Given the description of an element on the screen output the (x, y) to click on. 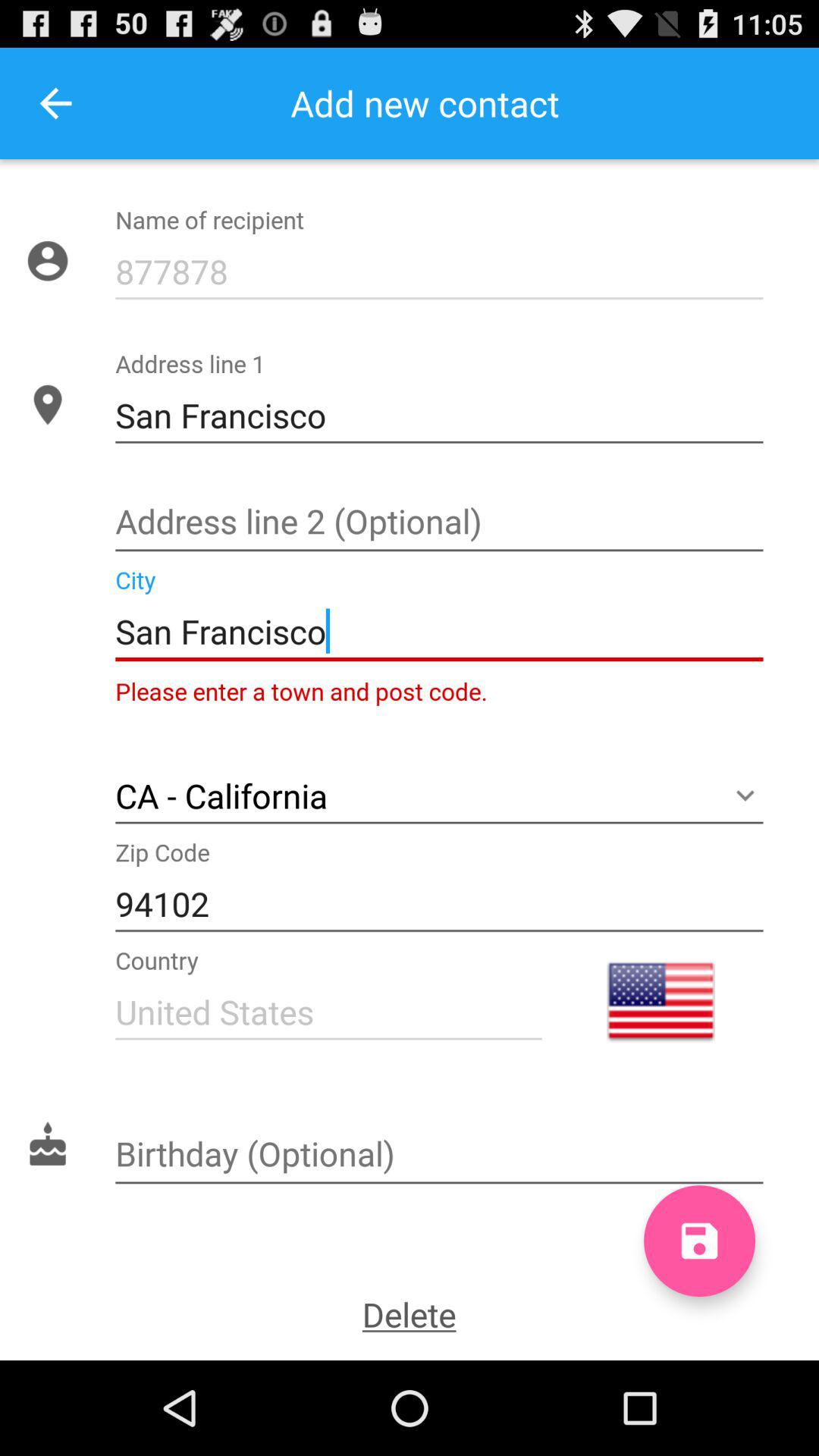
go back (55, 103)
